Given the description of an element on the screen output the (x, y) to click on. 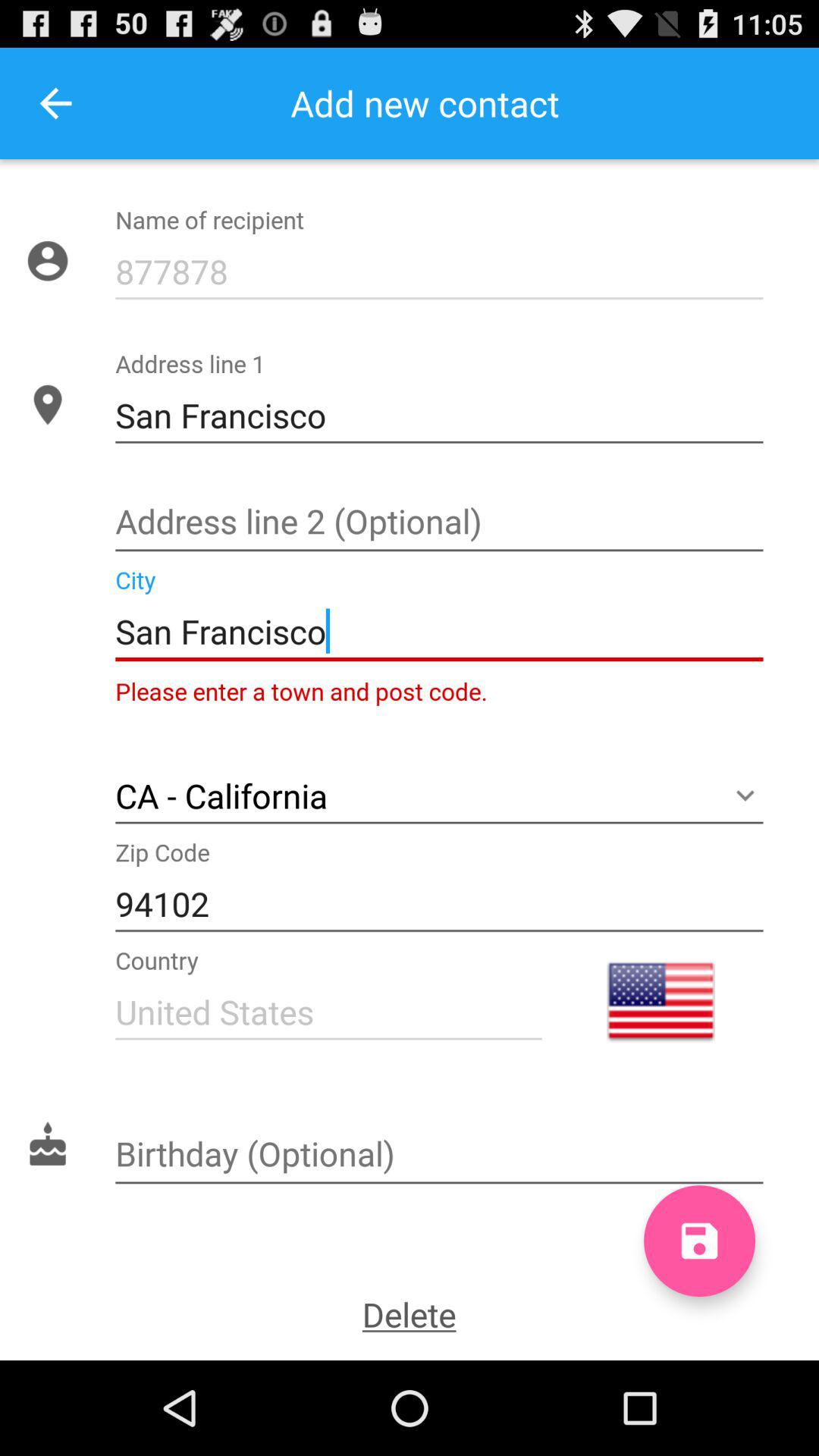
go back (55, 103)
